Given the description of an element on the screen output the (x, y) to click on. 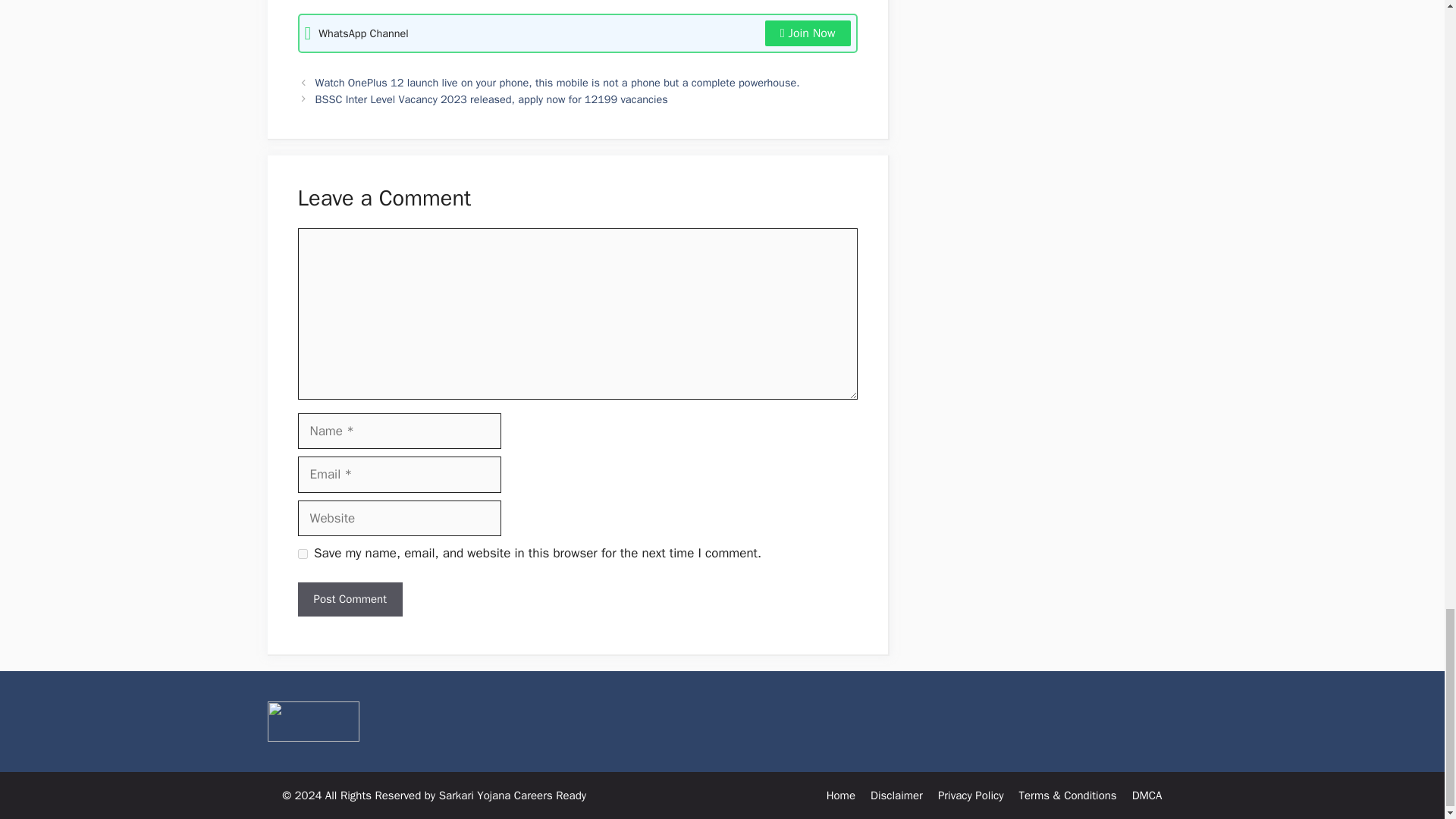
Home (841, 795)
Join Now (807, 32)
Disclaimer (896, 795)
Post Comment (349, 599)
Post Comment (349, 599)
yes (302, 553)
Privacy Policy (970, 795)
